Given the description of an element on the screen output the (x, y) to click on. 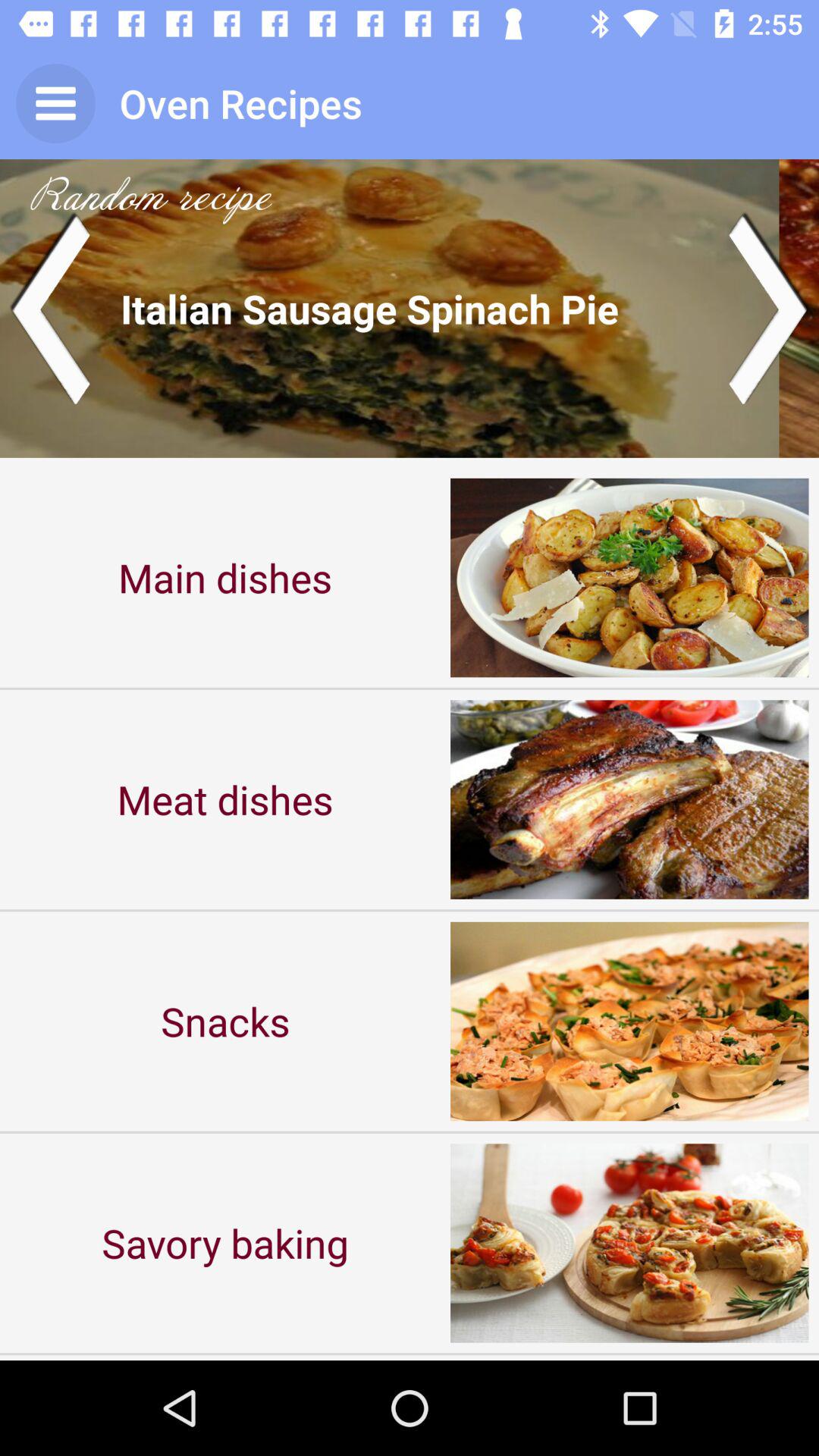
select dishes (409, 308)
